Given the description of an element on the screen output the (x, y) to click on. 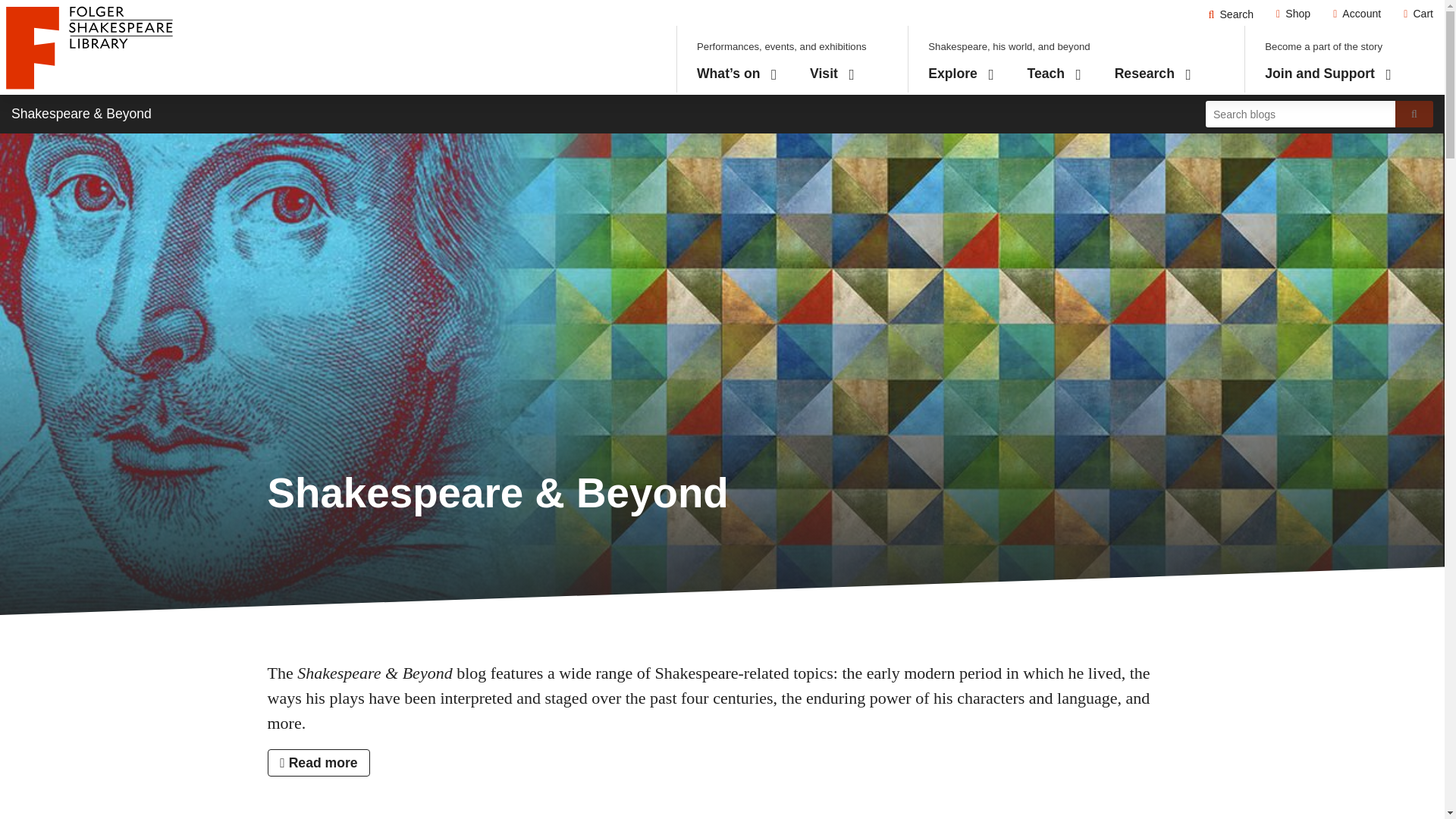
Shop (1293, 13)
Visit (831, 73)
Explore (1230, 14)
Research (961, 73)
Teach (1152, 73)
Account (1053, 73)
Folger Shakespeare Library - Home (1356, 13)
